Given the description of an element on the screen output the (x, y) to click on. 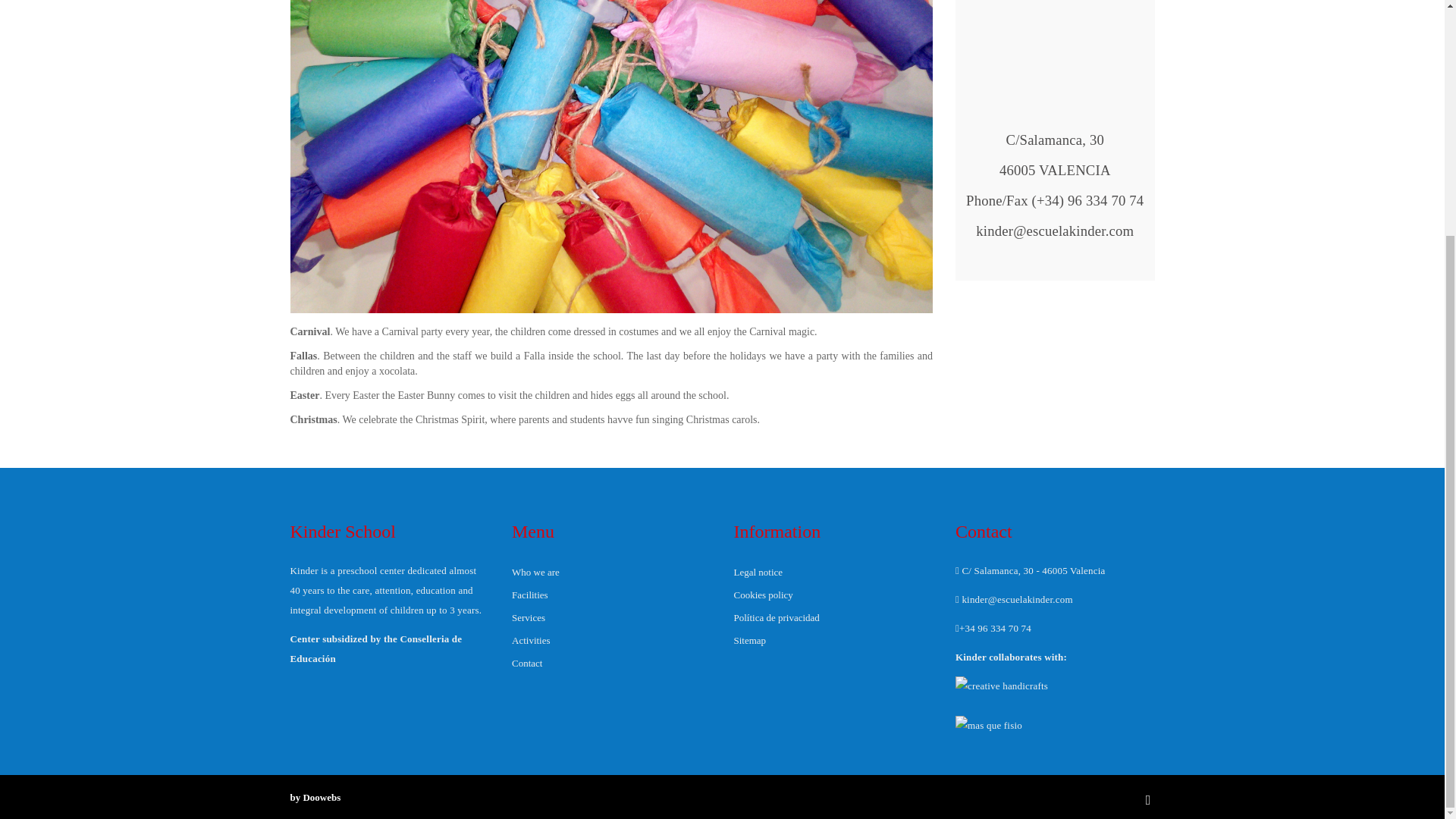
Sitemap (833, 640)
Activities (611, 640)
Cookies policy (833, 594)
Legal notice (833, 572)
Who we are (611, 572)
Facilities (611, 594)
Contact (611, 662)
Services (611, 617)
